Given the description of an element on the screen output the (x, y) to click on. 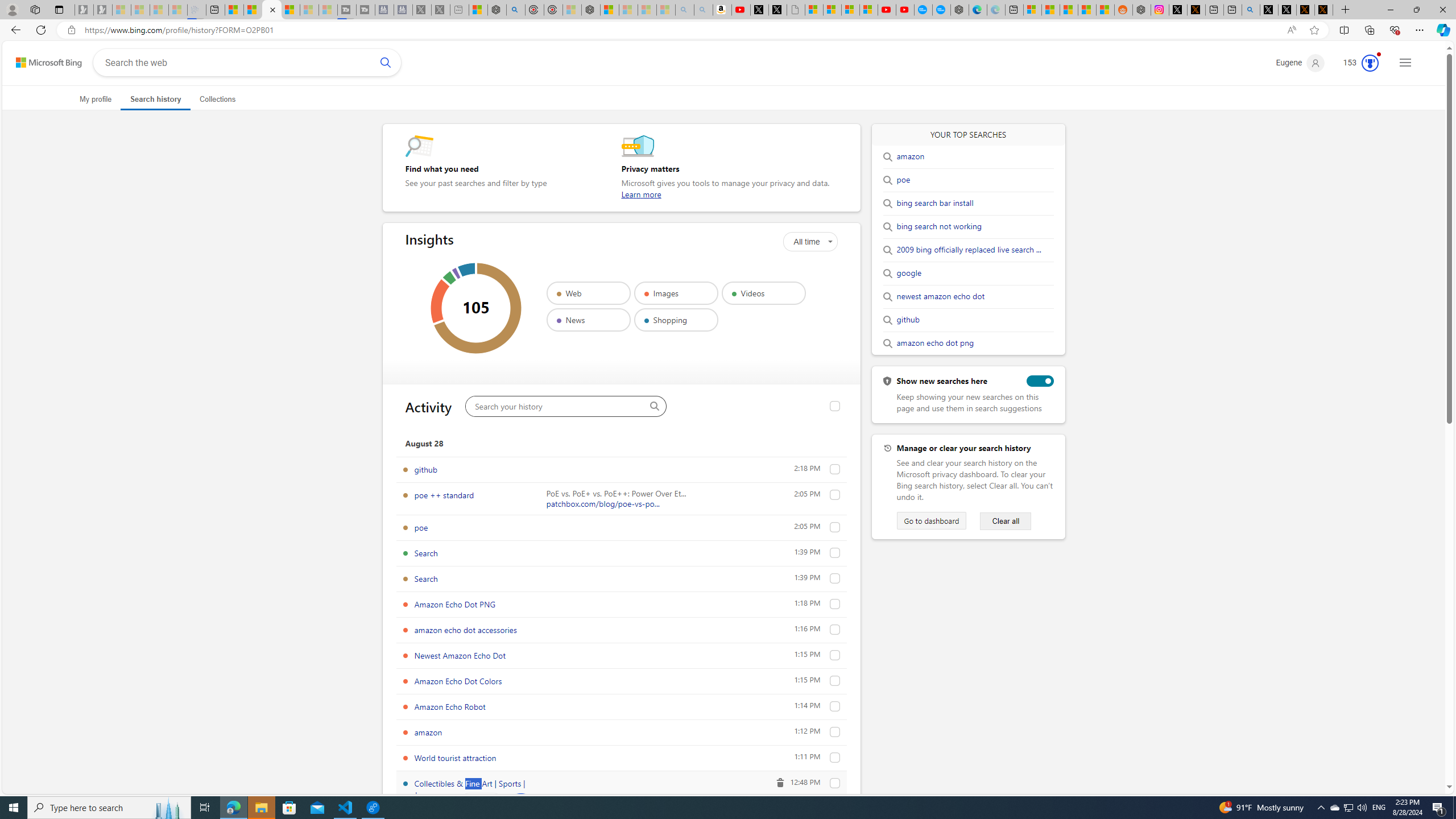
Microsoft account | Microsoft Account Privacy Settings (1032, 9)
World tourist attraction (454, 757)
Profile / X (1268, 9)
2009 bing officially replaced live search ... (968, 249)
poe (834, 527)
News (588, 319)
Streaming Coverage | T3 - Sleeping (347, 9)
Back to Bing search (41, 60)
amazon echo dot png (935, 343)
Amazon Echo Dot Colors (834, 680)
Class: dropdown__chevron (829, 241)
